Given the description of an element on the screen output the (x, y) to click on. 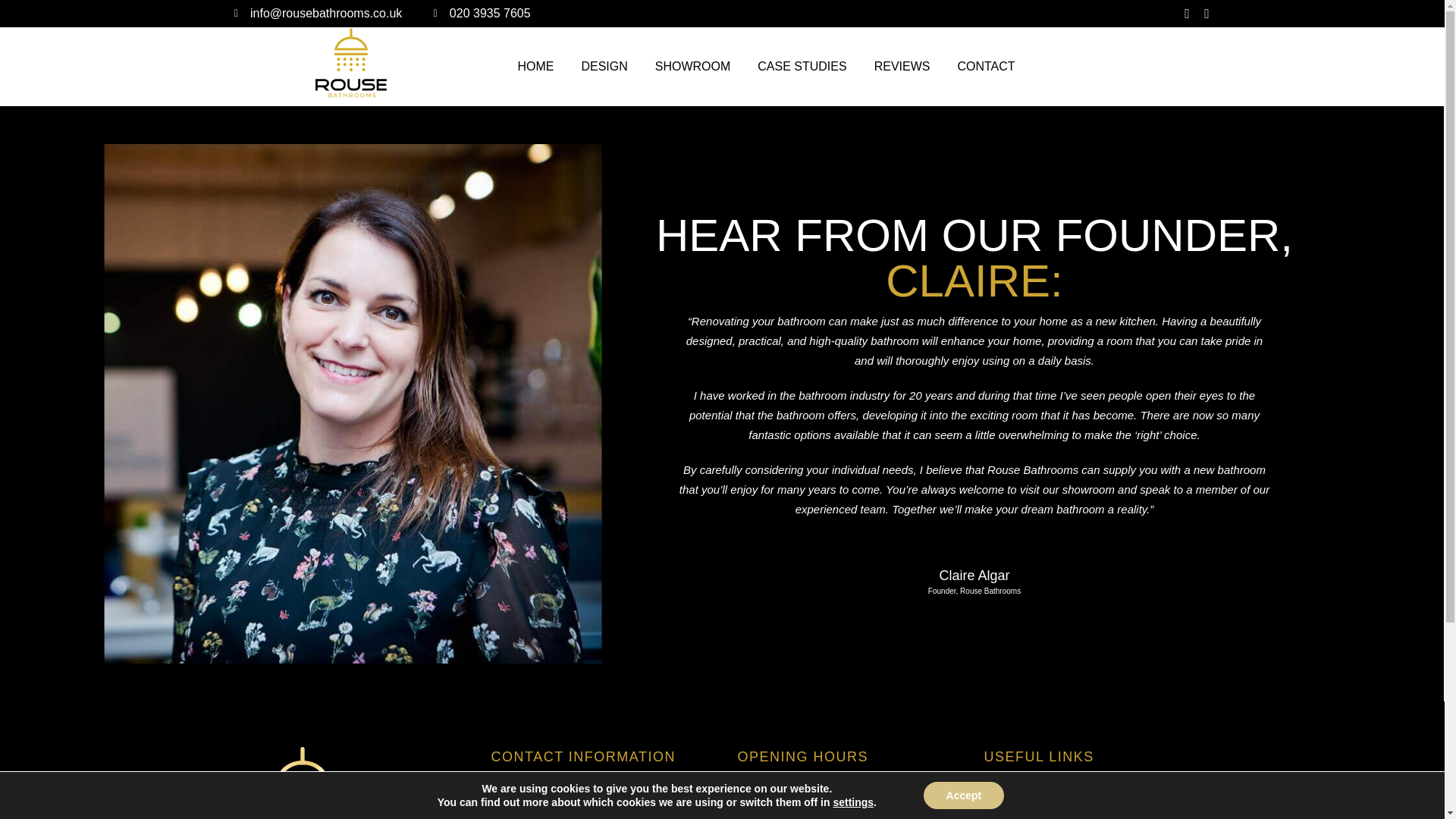
CONTACT (985, 66)
Facebook page opens in new window (1186, 12)
Give us a call! (490, 13)
DESIGN (604, 66)
Facebook page opens in new window (1186, 12)
Instagram page opens in new window (1206, 12)
HOME (534, 66)
Send us a message! (325, 13)
CASE STUDIES (801, 66)
Instagram page opens in new window (1206, 12)
